Given the description of an element on the screen output the (x, y) to click on. 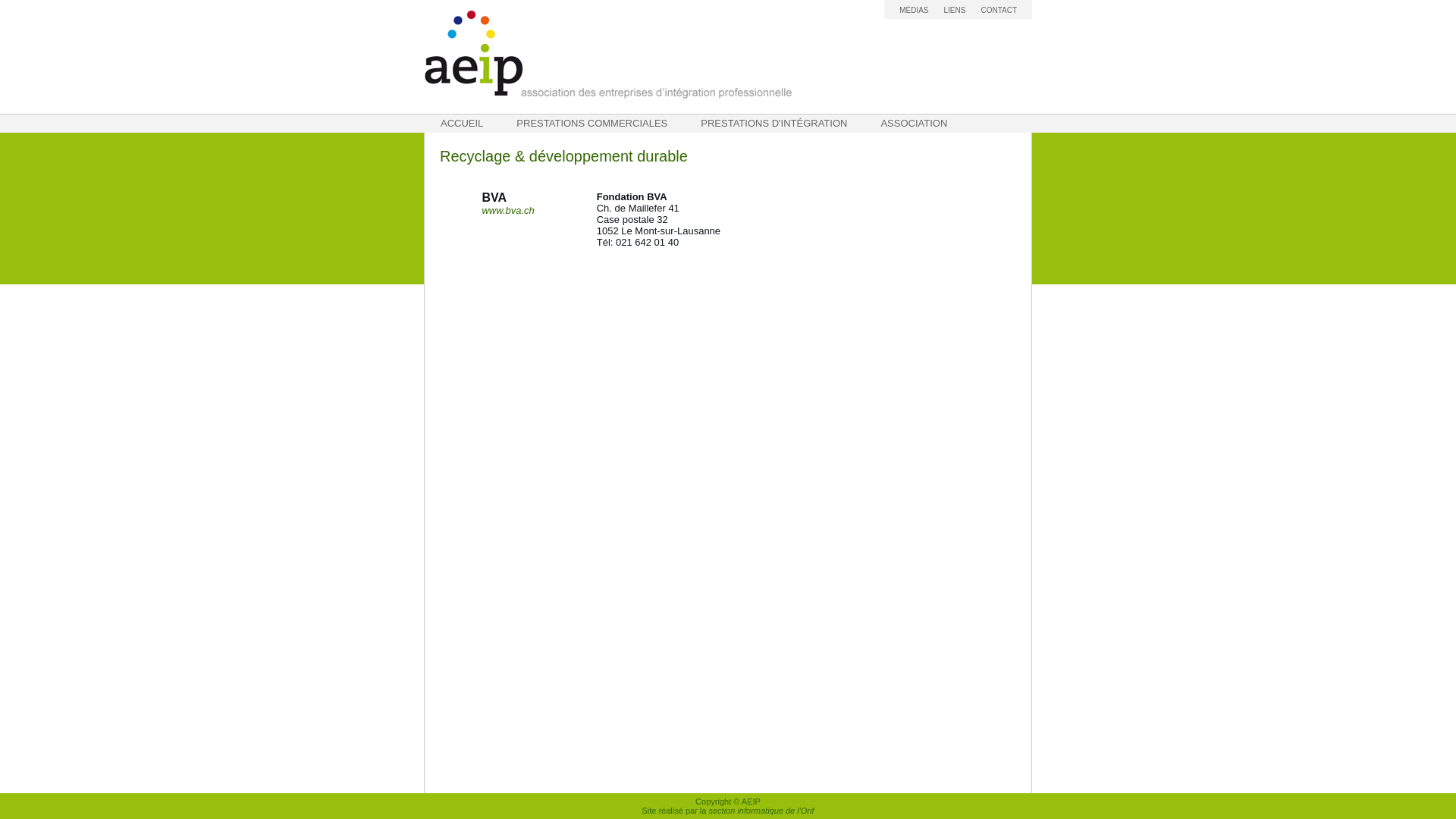
PRESTATIONS COMMERCIALES Element type: text (591, 123)
www.bva.ch Element type: text (507, 210)
ASSOCIATION Element type: text (913, 123)
section informatique de l'Orif Element type: text (760, 810)
LIENS Element type: text (954, 10)
ACCUEIL Element type: text (461, 123)
CONTACT Element type: text (998, 10)
